Given the description of an element on the screen output the (x, y) to click on. 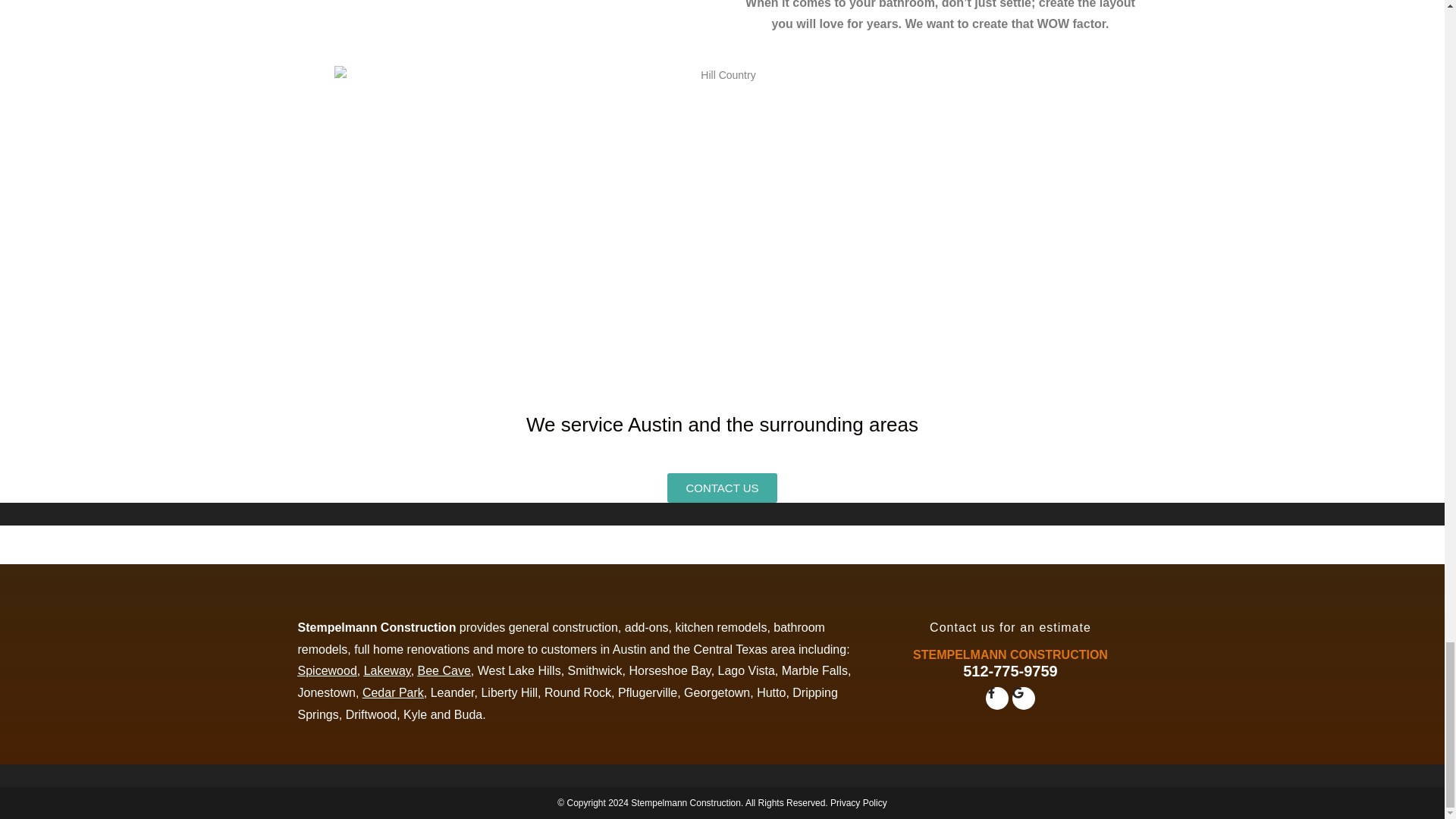
CONTACT US (721, 487)
Spicewood (326, 670)
Cedar Park (392, 692)
Lakeway (387, 670)
Privacy Policy (857, 802)
Bee Cave (443, 670)
512-775-9759 (1010, 670)
